Given the description of an element on the screen output the (x, y) to click on. 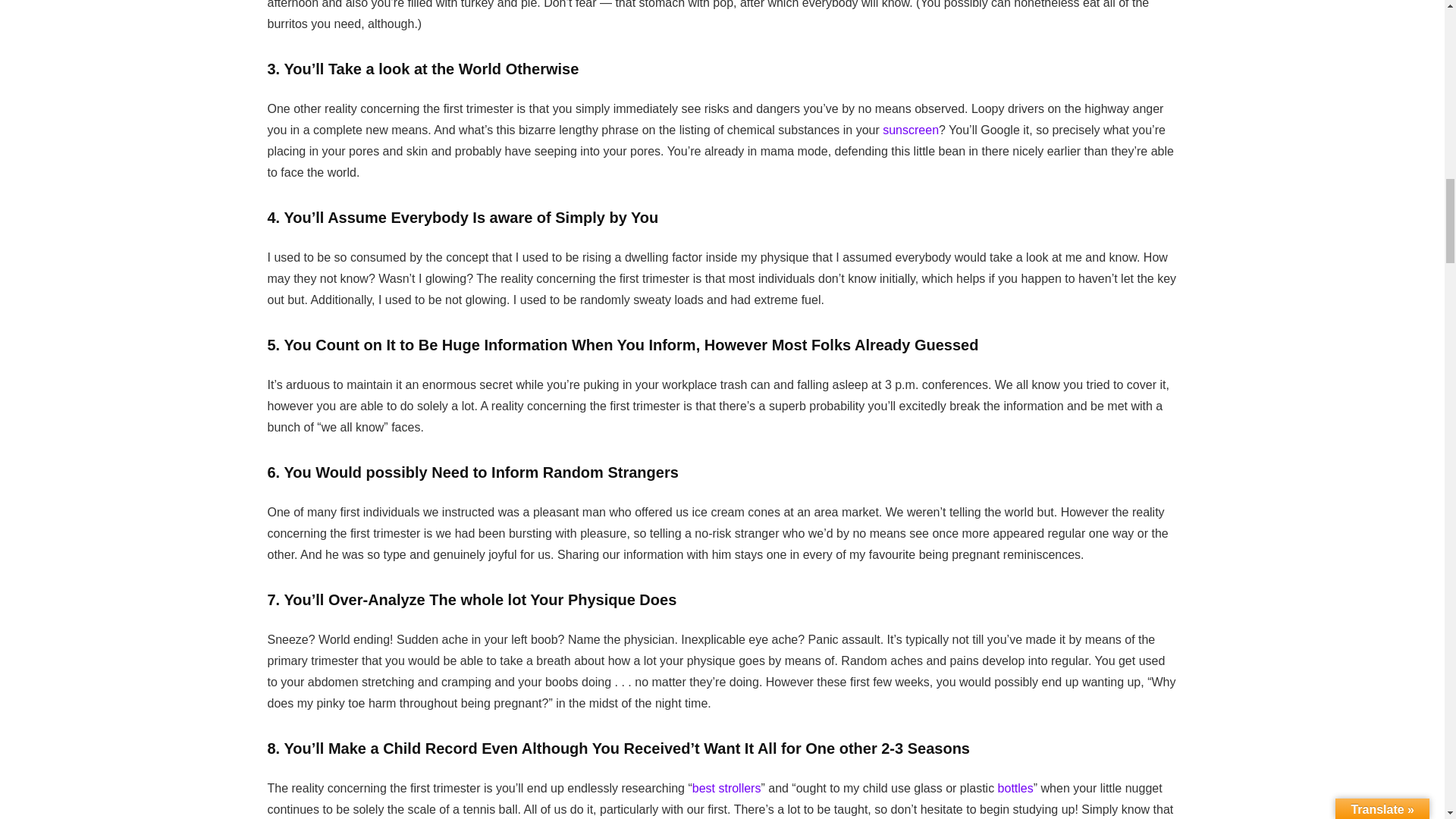
best strollers (727, 788)
sunscreen (910, 129)
bottles (1015, 788)
